Given the description of an element on the screen output the (x, y) to click on. 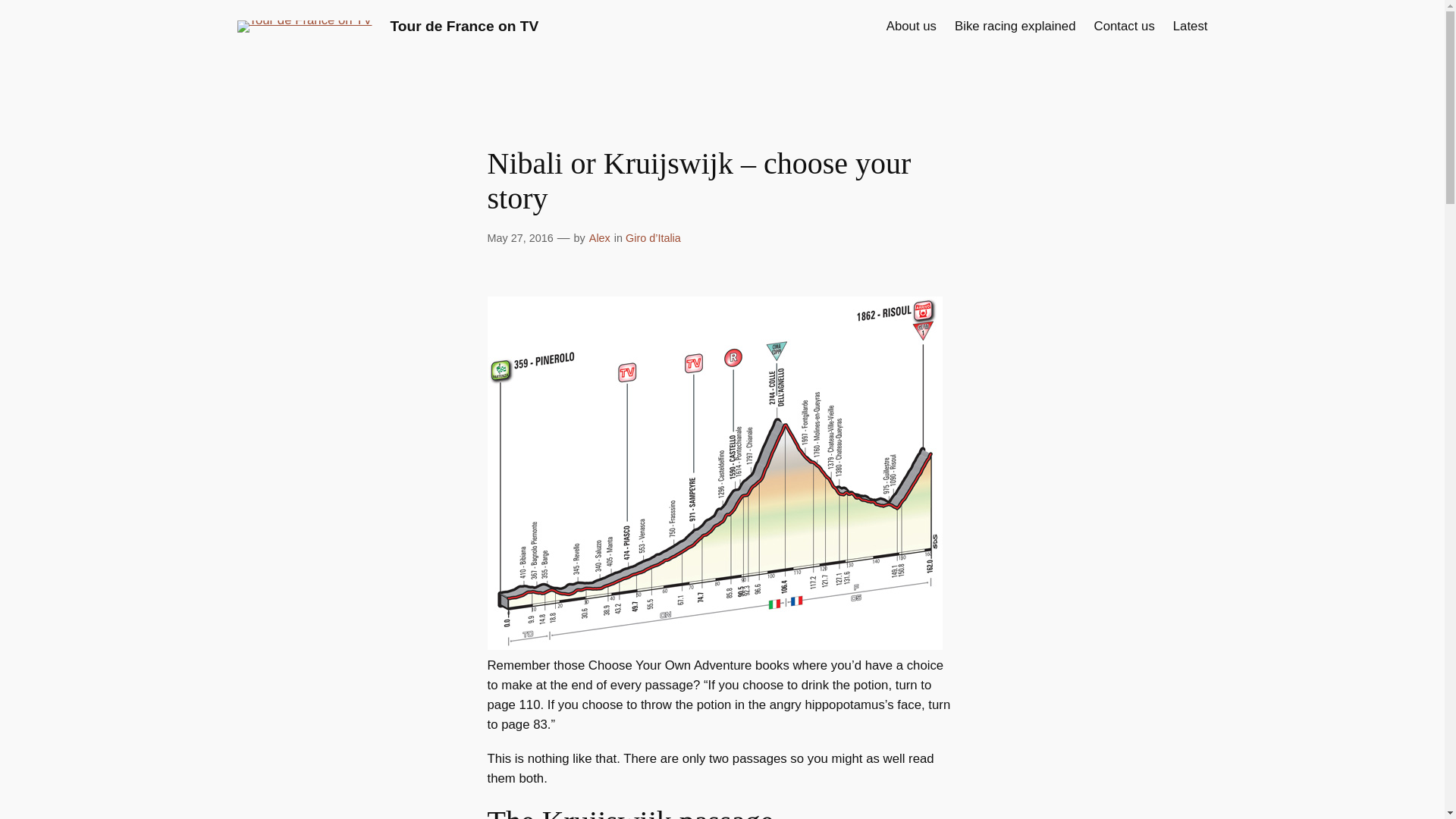
Latest (1190, 26)
Bike racing explained (1015, 26)
May 27, 2016 (519, 237)
About us (911, 26)
Tour de France on TV (464, 26)
Alex (599, 237)
Contact us (1124, 26)
